Given the description of an element on the screen output the (x, y) to click on. 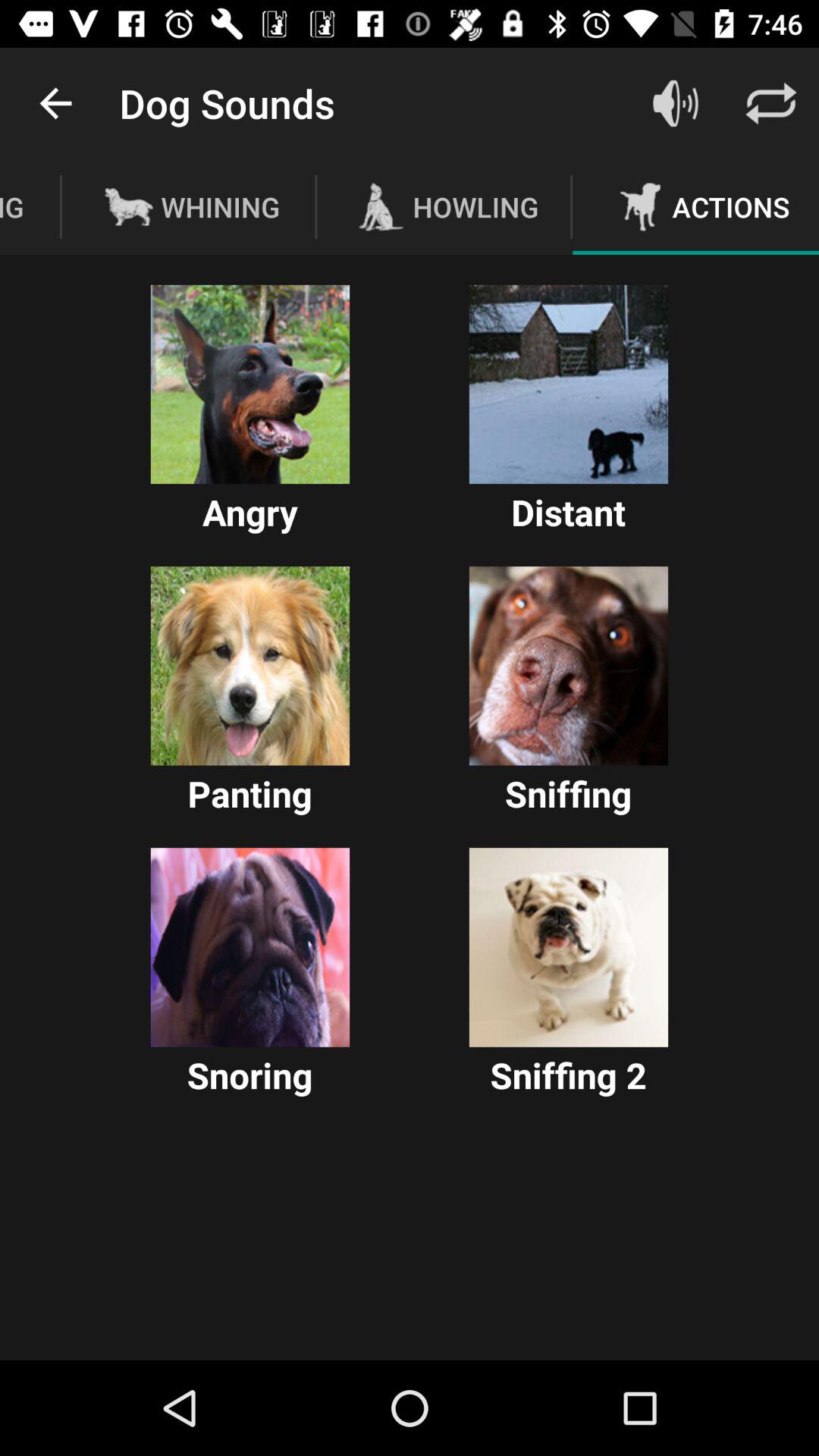
go to picture (249, 384)
